Given the description of an element on the screen output the (x, y) to click on. 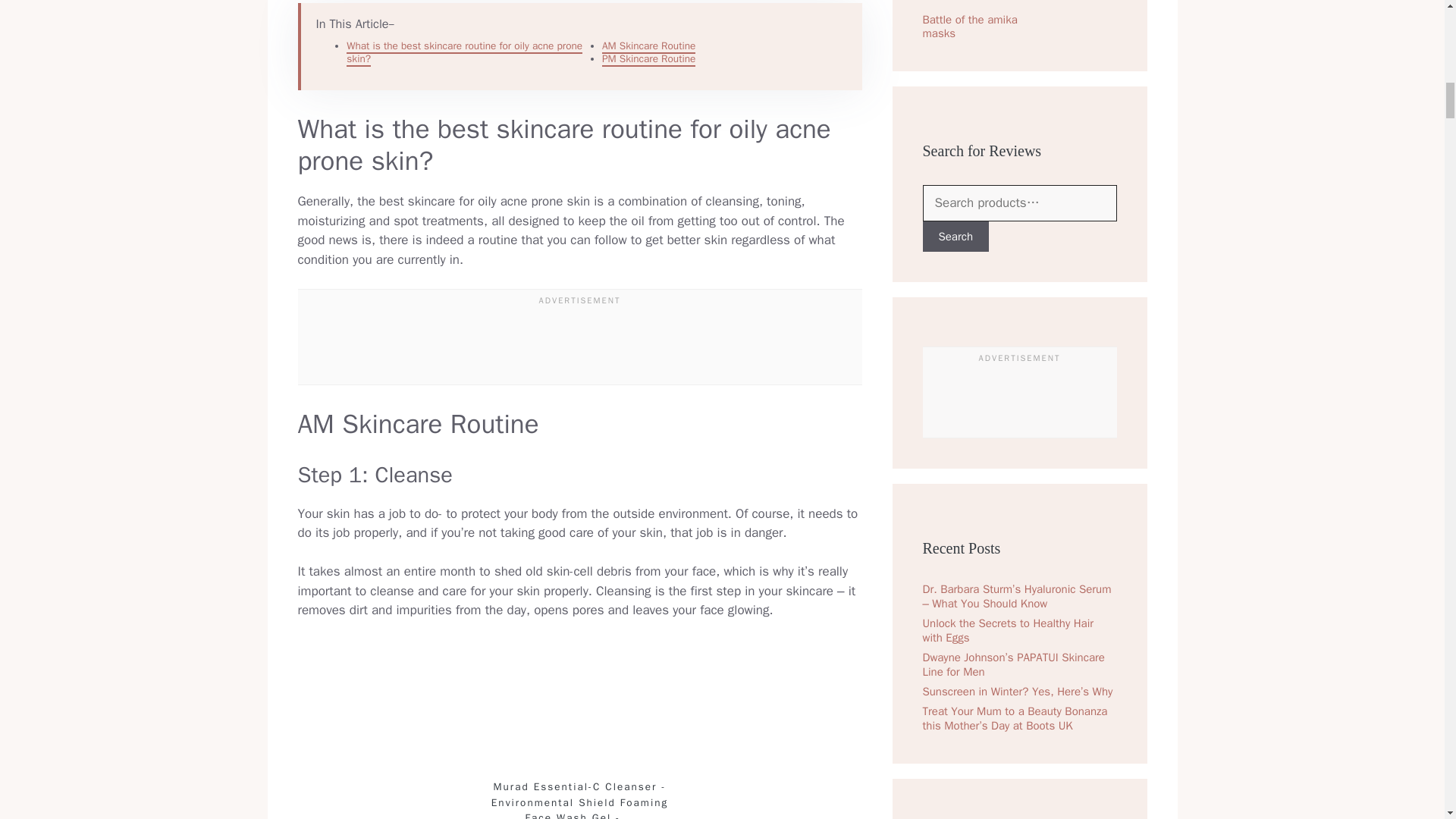
What is the best skincare routine for oily acne prone skin? (464, 53)
PM Skincare Routine (648, 59)
AM Skincare Routine (648, 46)
